Given the description of an element on the screen output the (x, y) to click on. 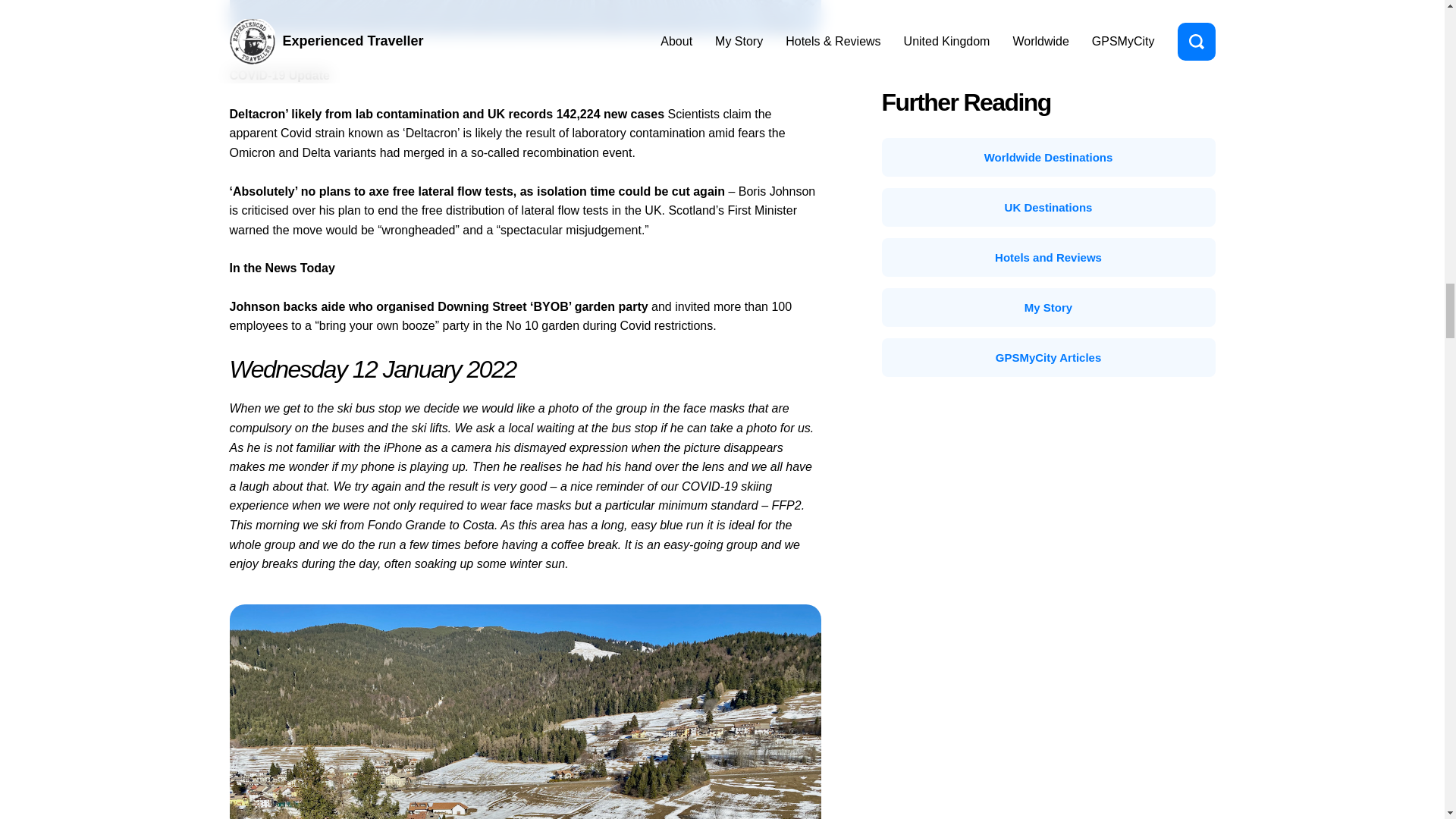
Costa Ski Area Near Folgaria in Italy (524, 711)
On the Way to Fiorentini, Folgaria, Italy (524, 18)
